Given the description of an element on the screen output the (x, y) to click on. 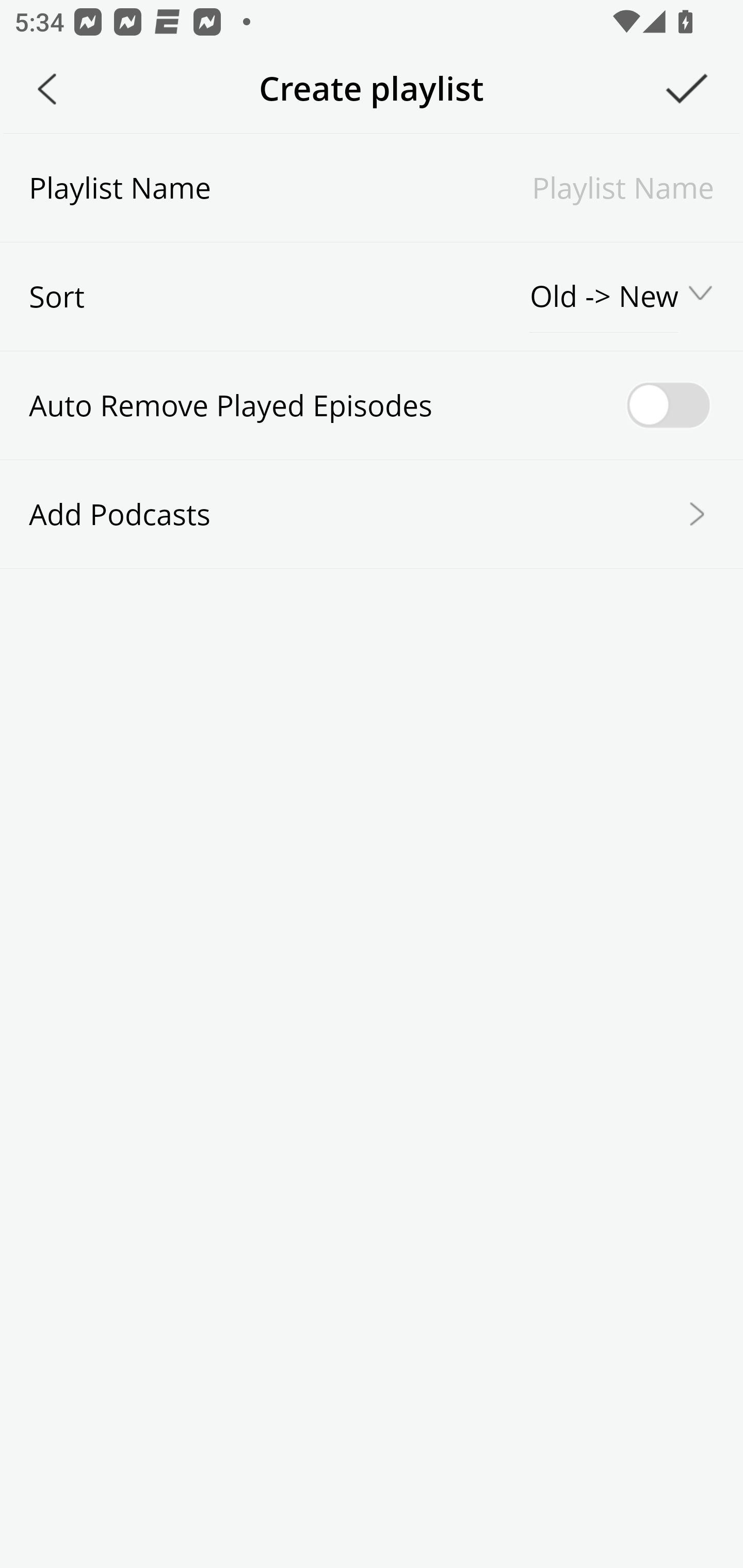
Back (46, 88)
Playlist Name (462, 187)
Old -> New (605, 297)
Add Podcasts (371, 513)
